Given the description of an element on the screen output the (x, y) to click on. 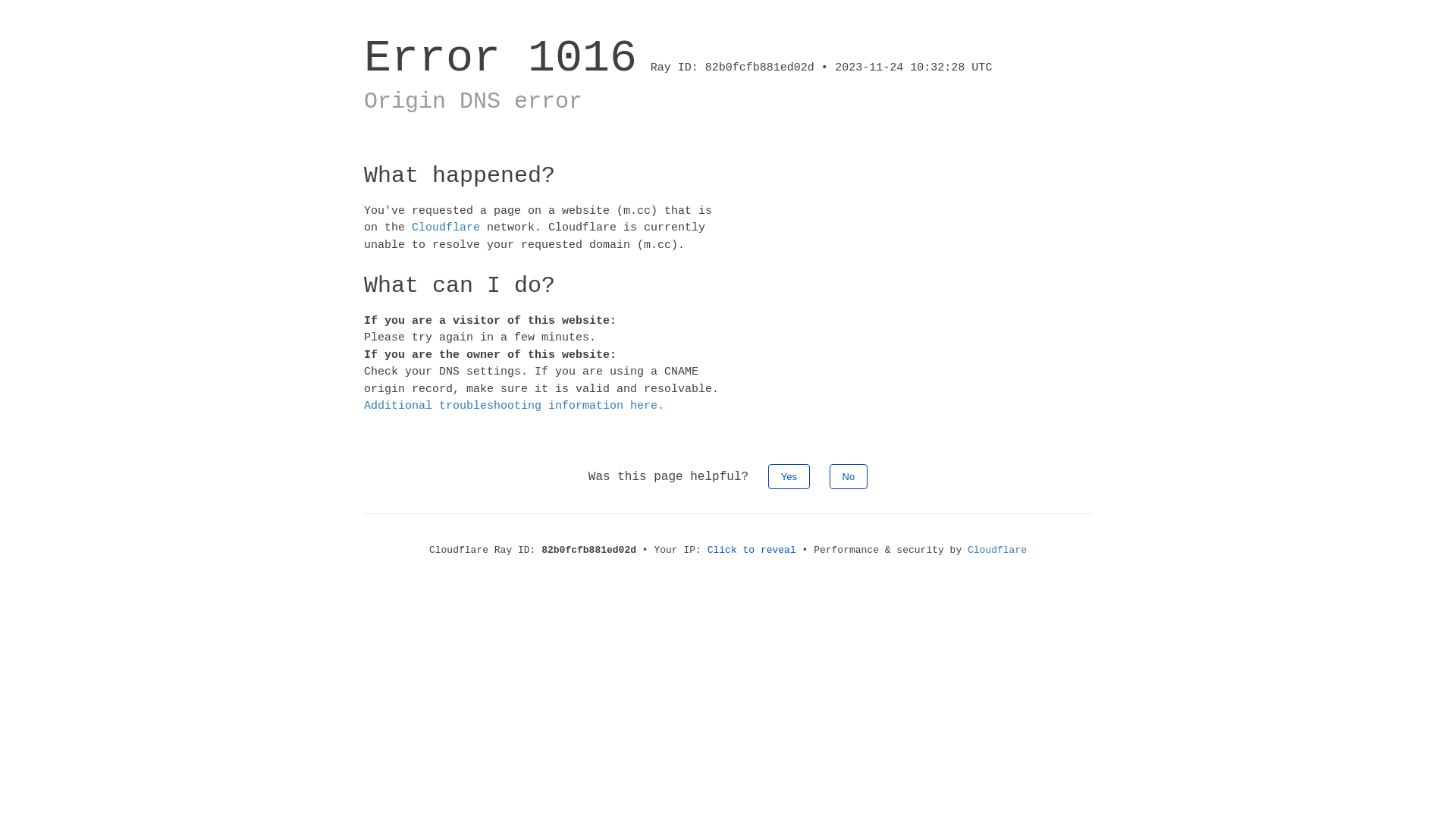
Cloudflare Element type: text (445, 227)
Cloudflare Element type: text (996, 549)
No Element type: text (848, 476)
Yes Element type: text (788, 476)
Additional troubleshooting information here. Element type: text (514, 405)
Click to reveal Element type: text (751, 549)
